Given the description of an element on the screen output the (x, y) to click on. 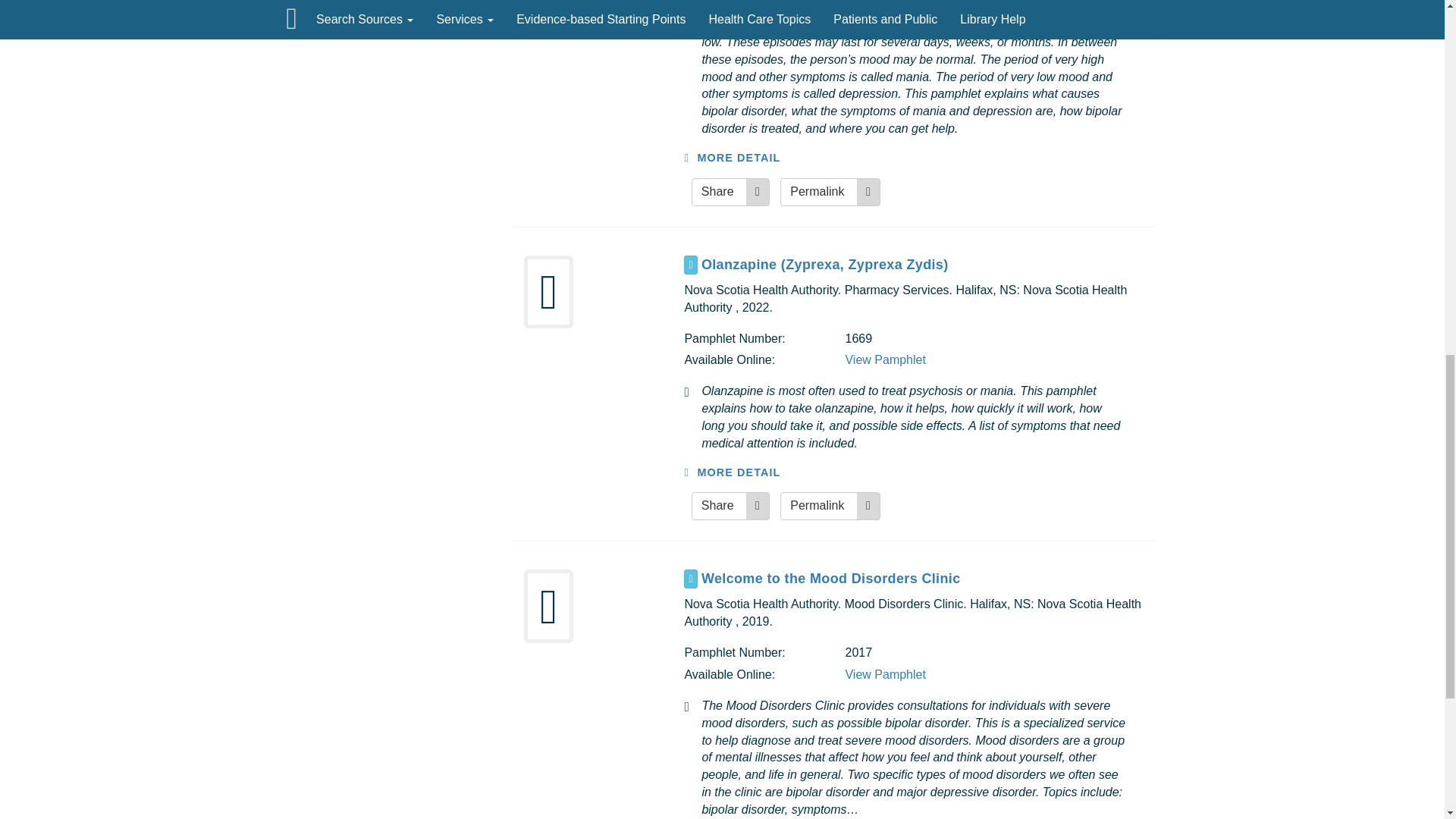
Toggle Full Record (921, 264)
Toggle Full Record (690, 264)
Permalink (829, 506)
Toggle Full Record (690, 578)
Permalink (829, 192)
Toggle Full Record (921, 578)
